Given the description of an element on the screen output the (x, y) to click on. 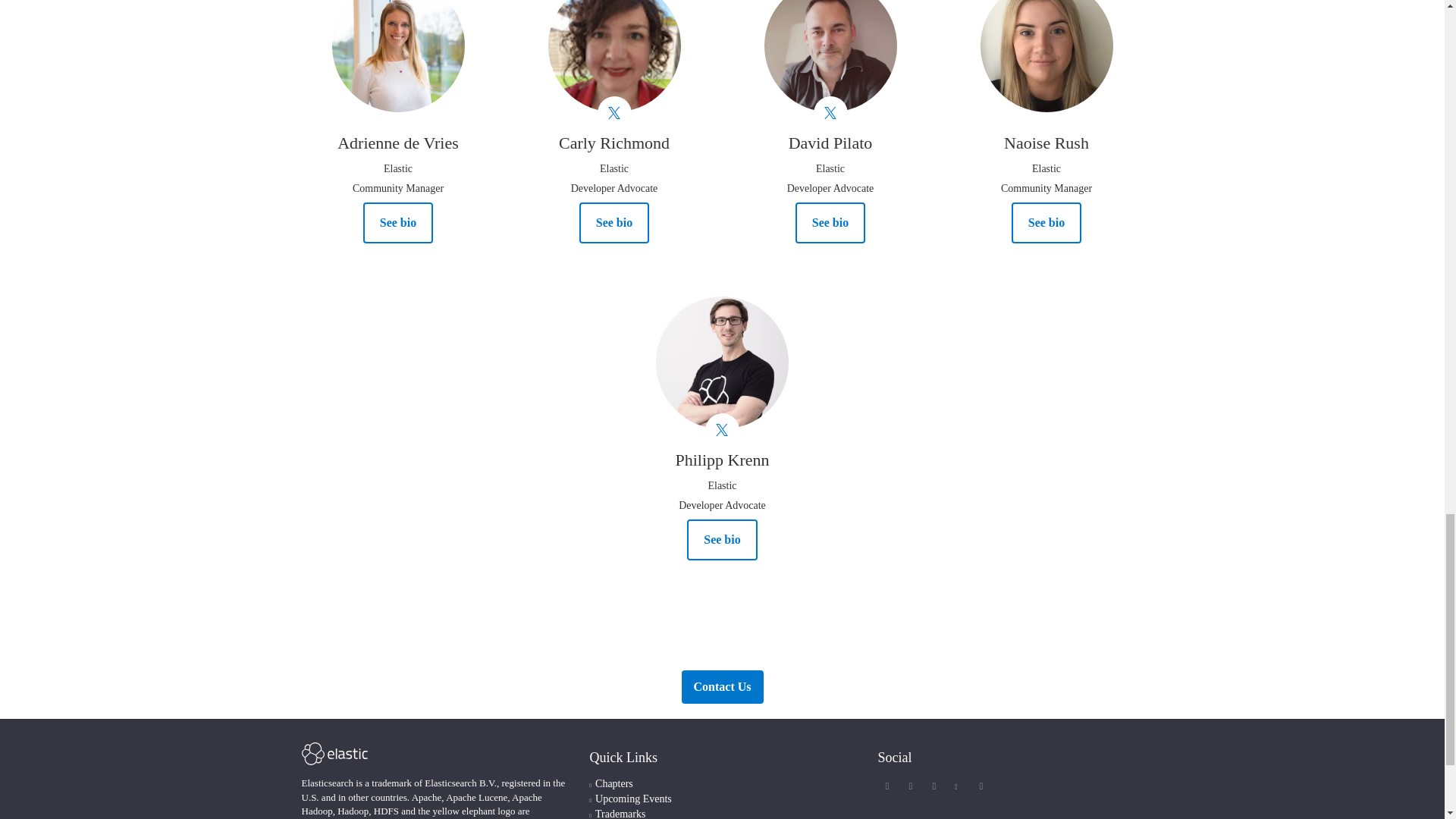
Facebook (910, 785)
See bio (614, 222)
See bio (829, 222)
Trademarks (620, 813)
See bio (397, 222)
YouTube (956, 785)
LinkedIn (933, 785)
Chapters (614, 783)
X (886, 785)
See bio (1046, 222)
See bio (722, 539)
Upcoming Events (633, 798)
GitHub (981, 785)
